Given the description of an element on the screen output the (x, y) to click on. 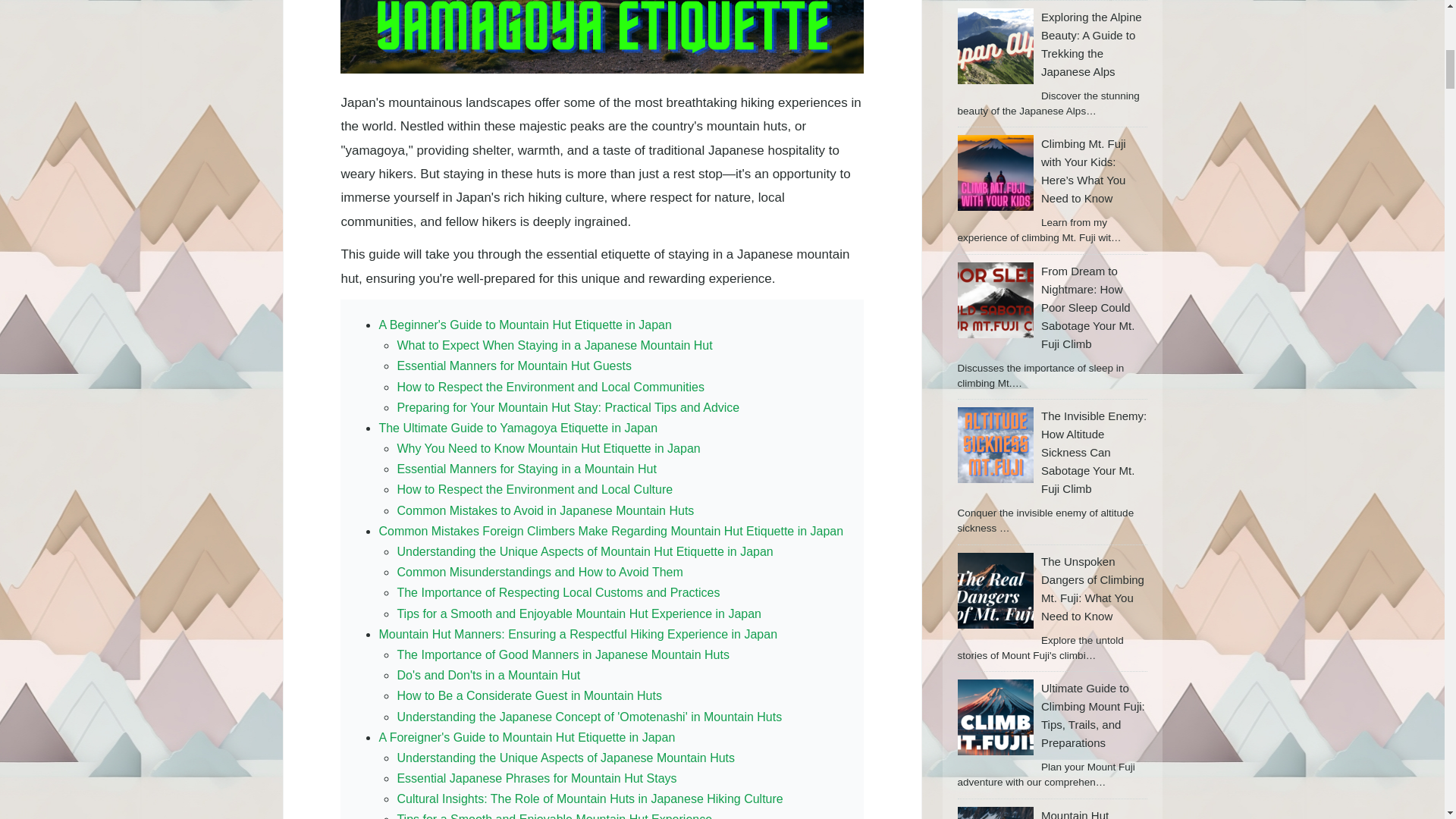
How to Respect the Environment and Local Culture (534, 489)
Essential Manners for Mountain Hut Guests (513, 365)
How to Respect the Environment and Local Communities (550, 386)
The Ultimate Guide to Yamagoya Etiquette in Japan (518, 427)
Common Mistakes to Avoid in Japanese Mountain Huts (545, 510)
Why You Need to Know Mountain Hut Etiquette in Japan (548, 448)
Essential Manners for Staying in a Mountain Hut (526, 468)
